Given the description of an element on the screen output the (x, y) to click on. 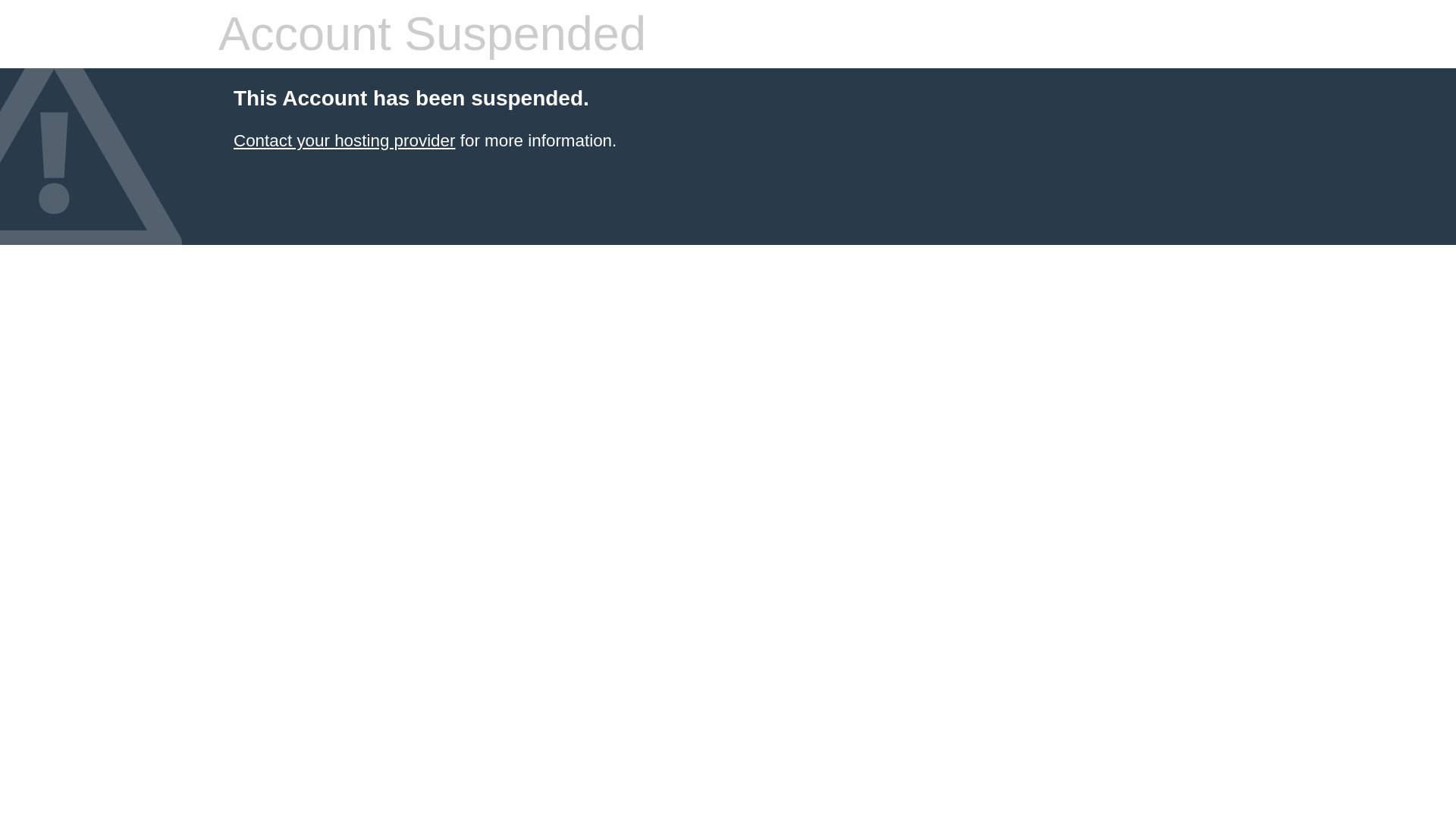
Contact your hosting provider (343, 140)
